Given the description of an element on the screen output the (x, y) to click on. 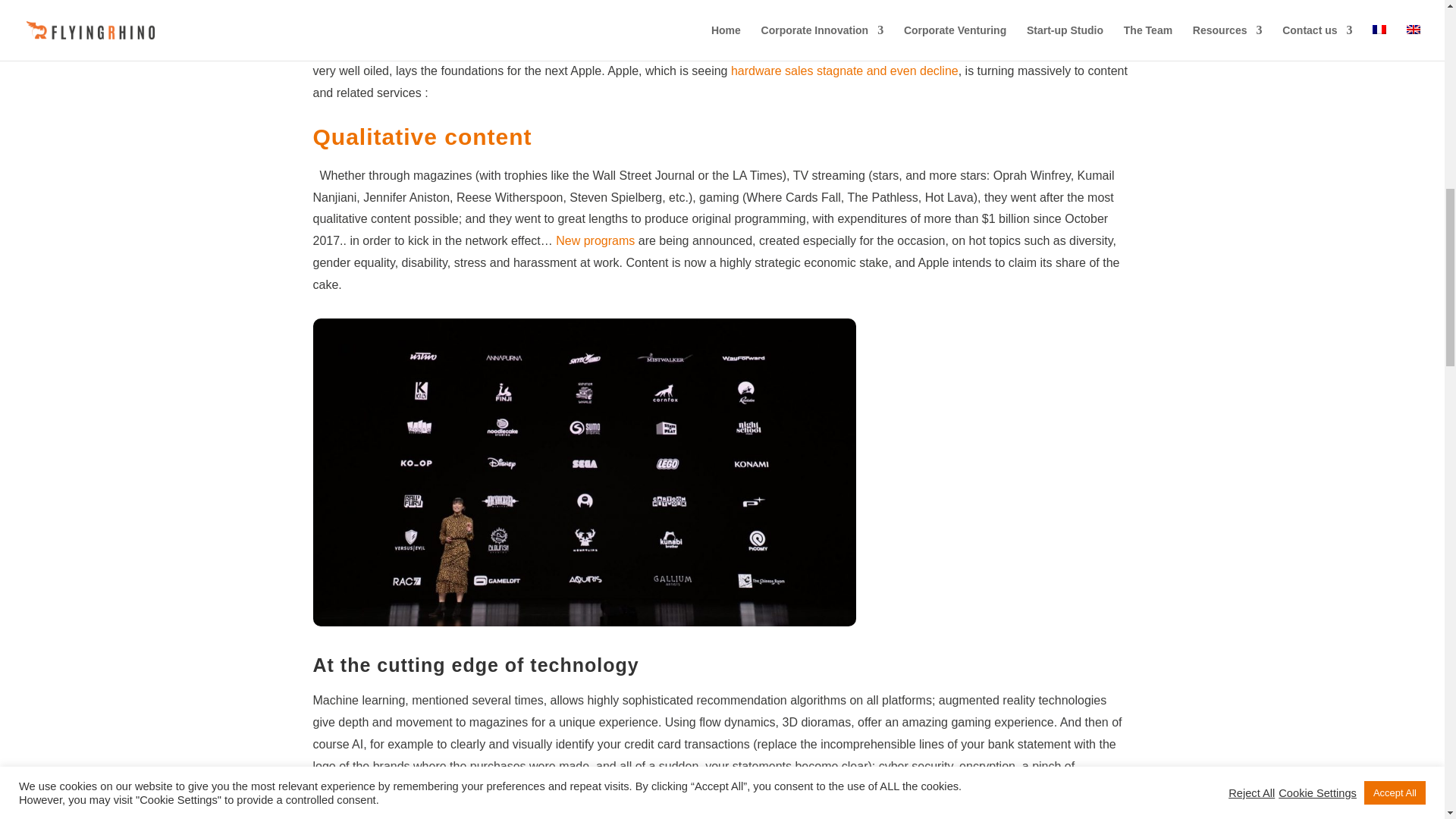
future technological trends (507, 809)
New programs (595, 240)
hardware sales stagnate and even decline (844, 70)
